Given the description of an element on the screen output the (x, y) to click on. 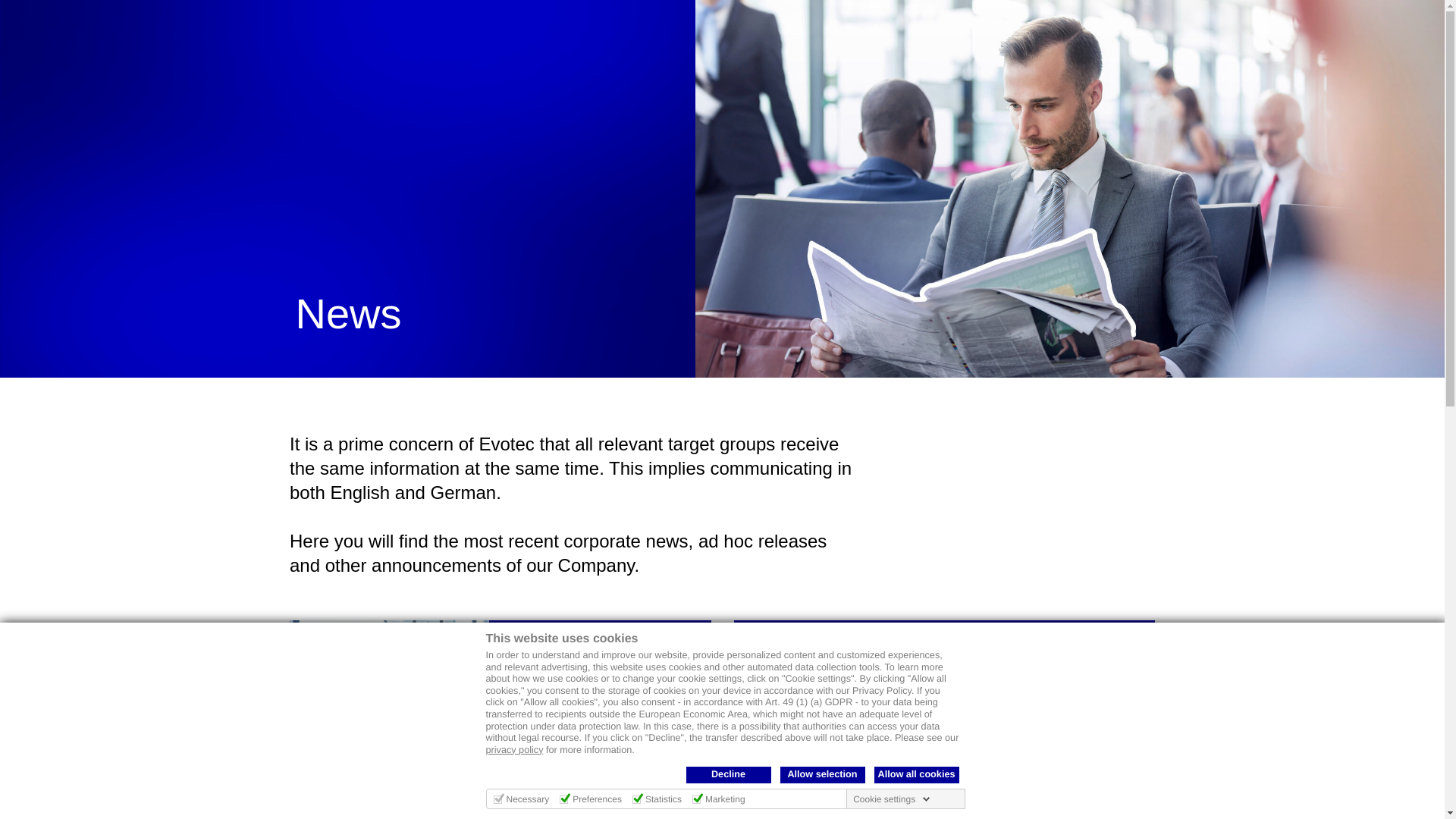
Cookie settings (891, 799)
privacy policy (513, 749)
Decline (727, 774)
Allow all cookies (915, 774)
Allow selection (821, 774)
